Given the description of an element on the screen output the (x, y) to click on. 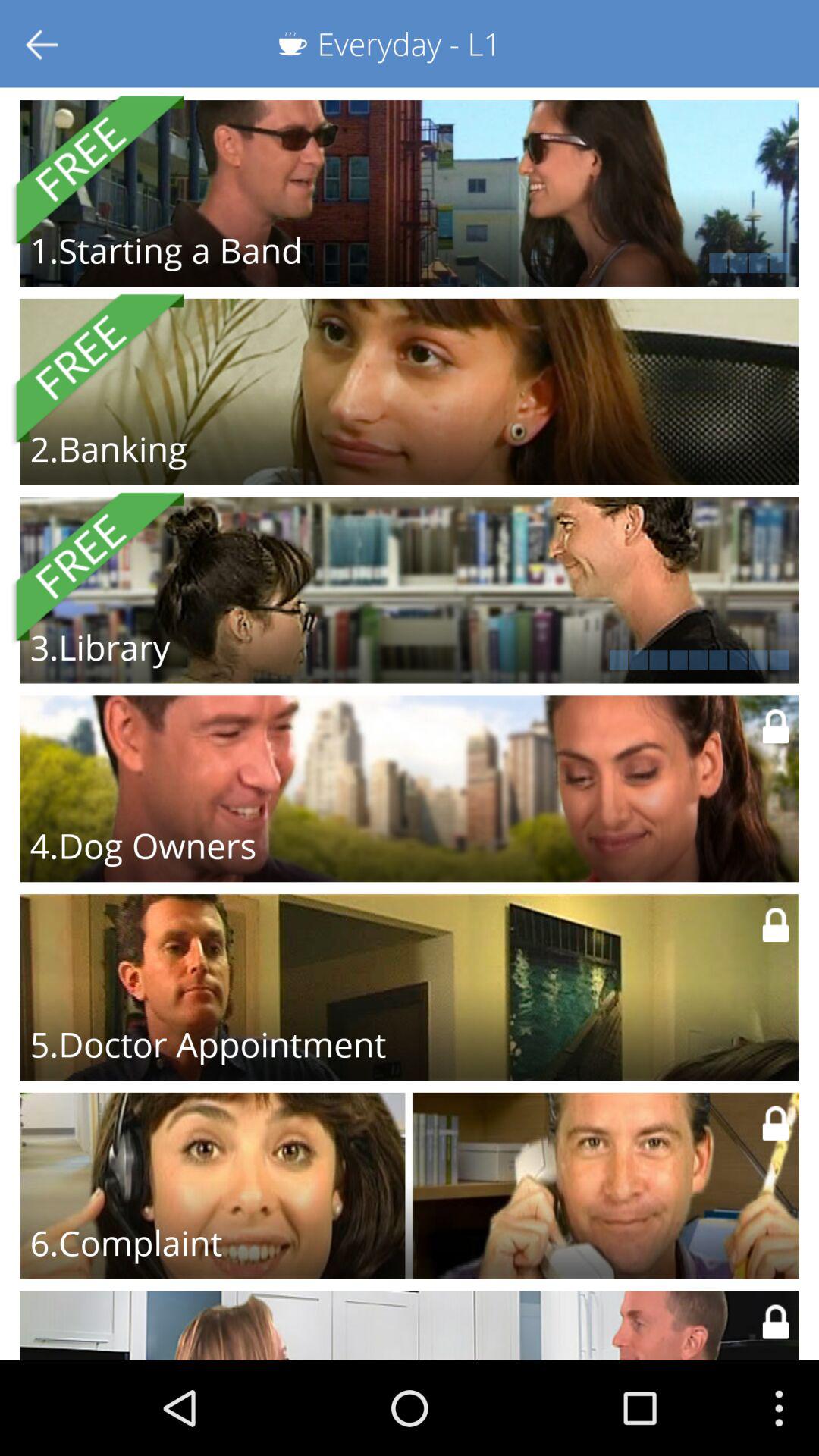
choose the 1 starting a (166, 250)
